Given the description of an element on the screen output the (x, y) to click on. 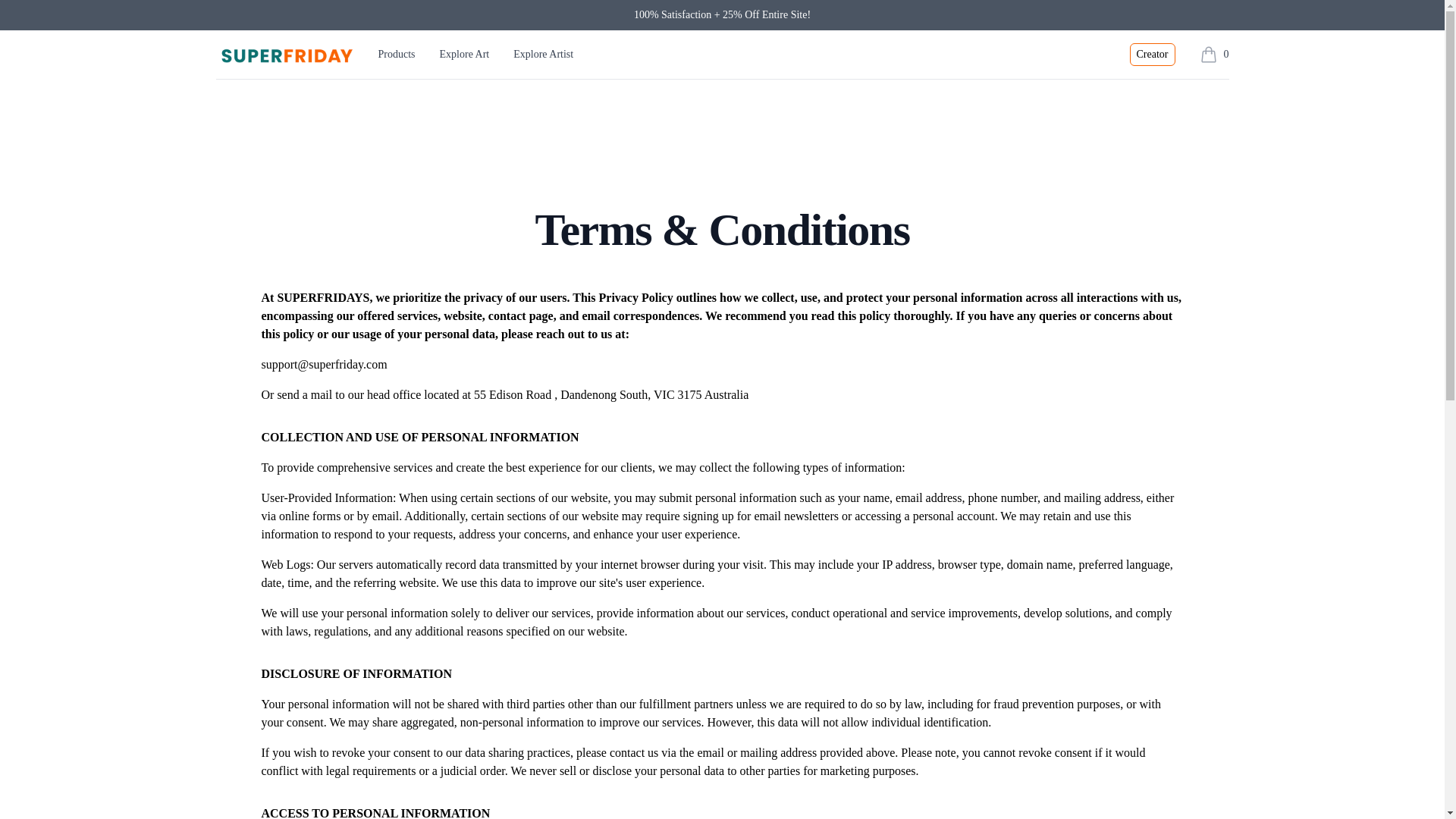
Explore Artist (543, 54)
Products (1213, 54)
Creator (396, 54)
Super Friday (1151, 54)
Explore Art (284, 54)
